Given the description of an element on the screen output the (x, y) to click on. 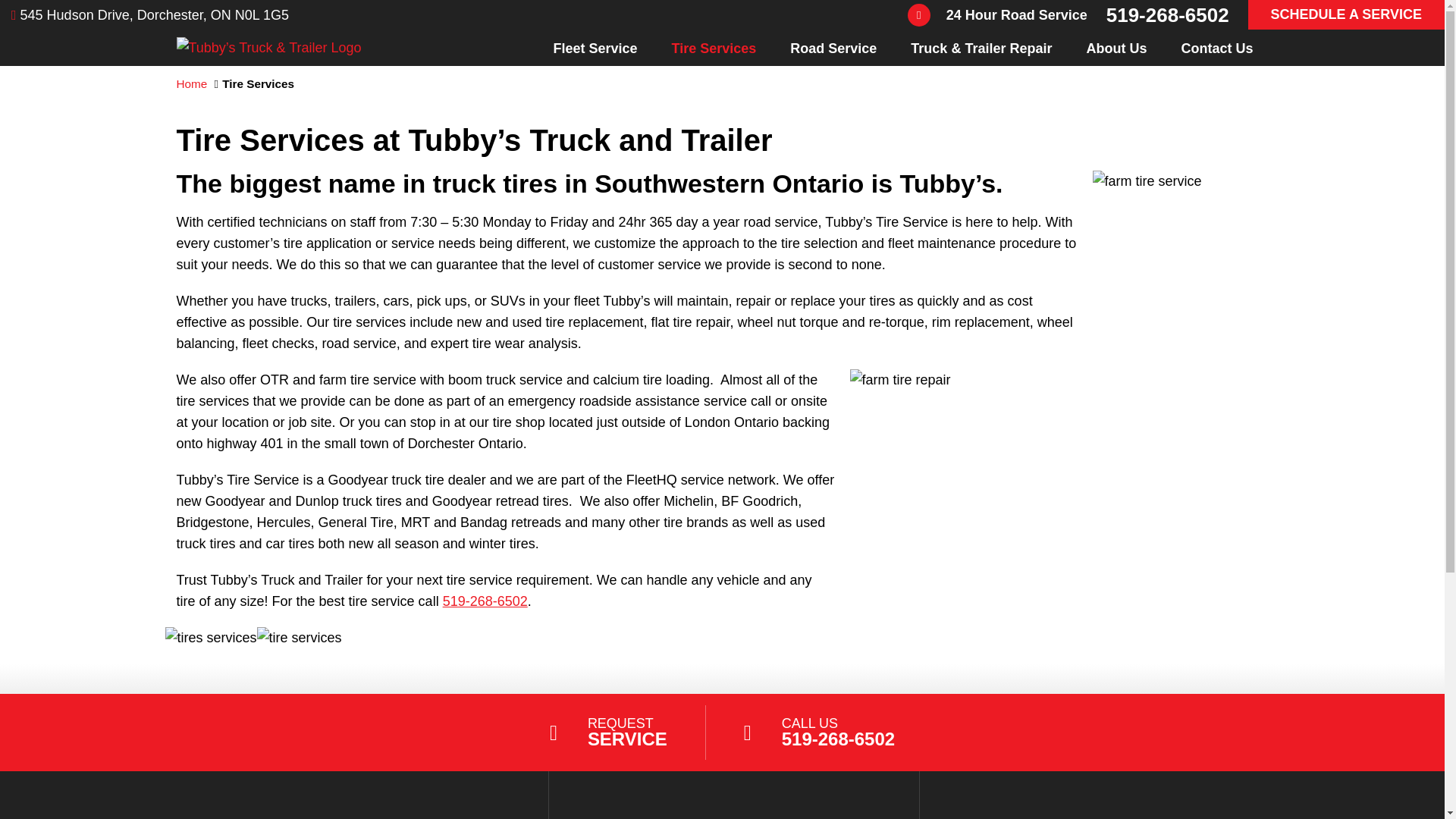
Tire Services (713, 47)
Contact Us (1217, 47)
519-268-6502 (484, 601)
Home (191, 83)
About Us (1115, 47)
Road Service (832, 47)
SCHEDULE A SERVICE (1345, 14)
Fleet Service (594, 47)
